Given the description of an element on the screen output the (x, y) to click on. 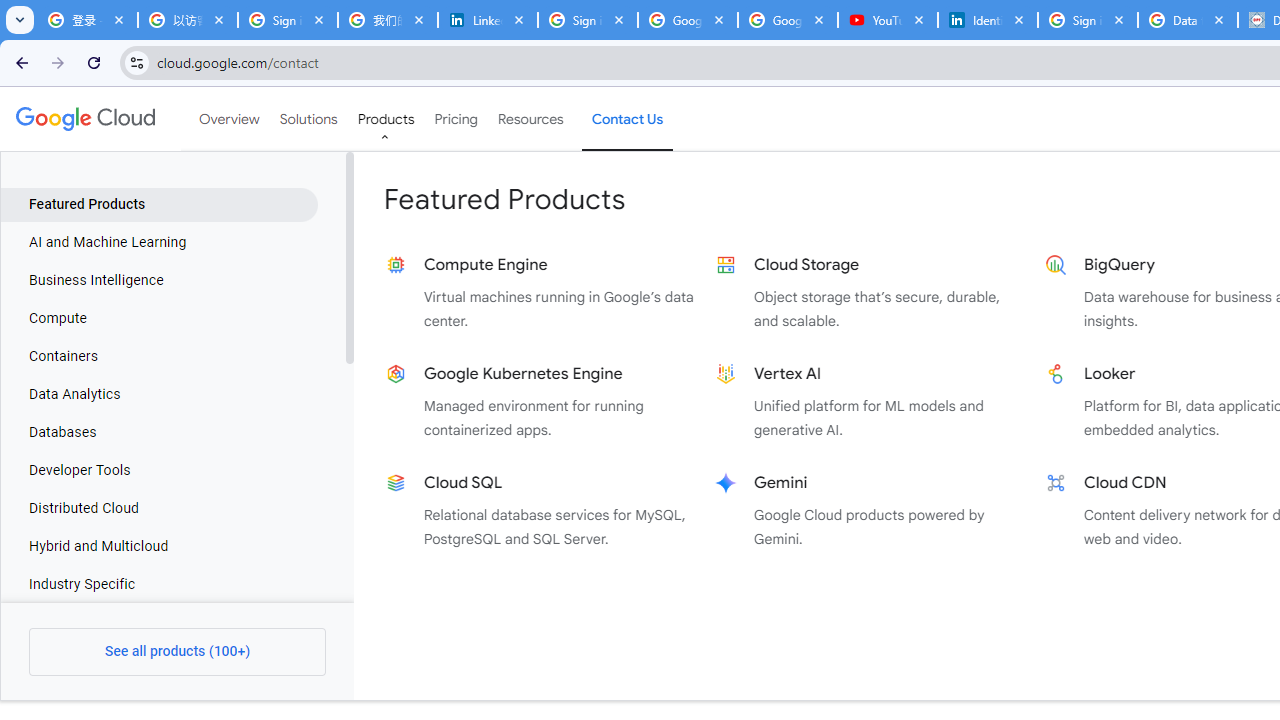
LinkedIn Privacy Policy (487, 20)
Vertex AI Unified platform for ML models and generative AI. (870, 402)
See all products (100+) (177, 651)
Google Cloud (84, 118)
Sign in - Google Accounts (587, 20)
Sign in - Google Accounts (287, 20)
Gemini Google Cloud products powered by Gemini. (870, 510)
Products (385, 119)
